Given the description of an element on the screen output the (x, y) to click on. 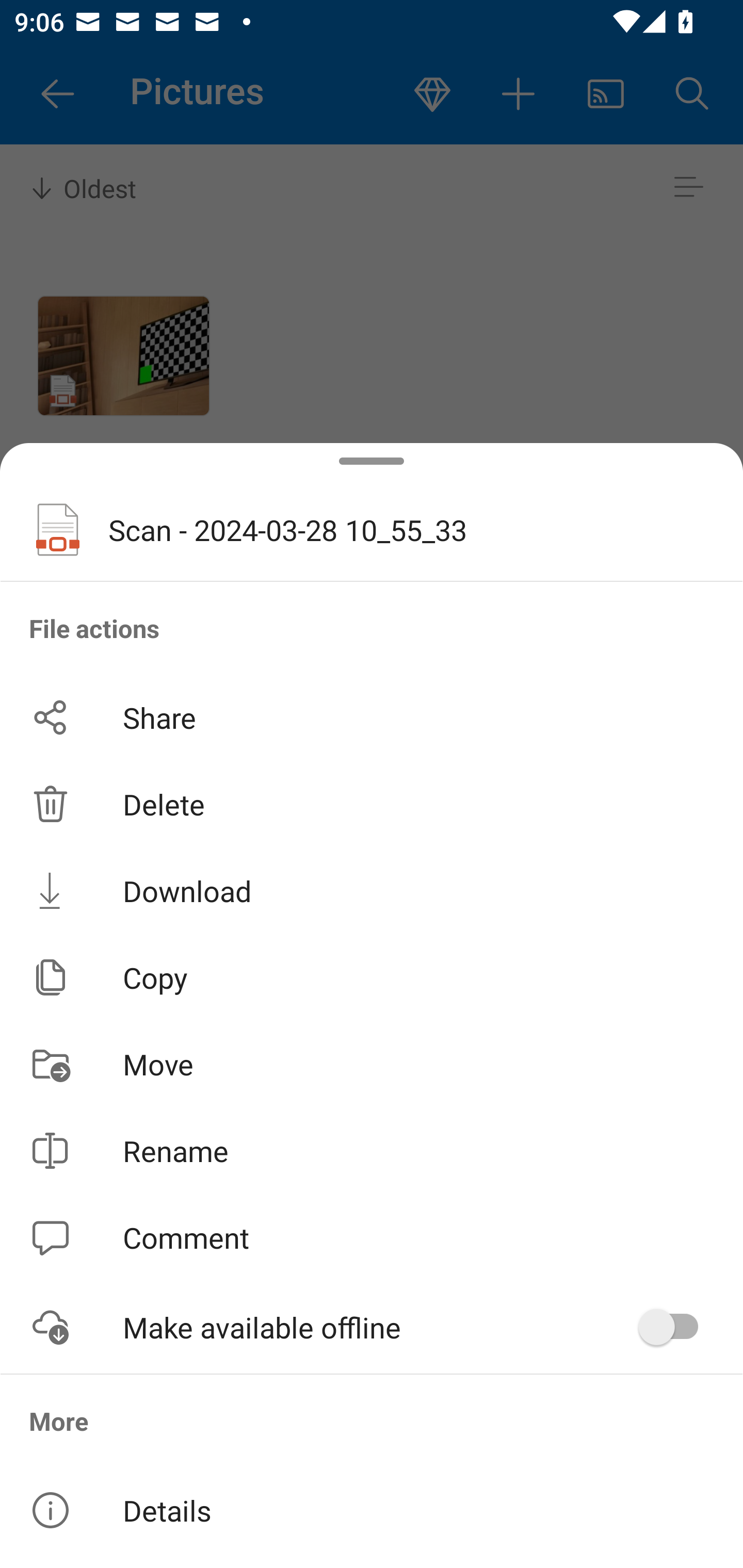
Share button Share (371, 717)
Delete button Delete (371, 803)
Download button Download (371, 890)
Copy button Copy (371, 977)
Move button Move (371, 1063)
Rename button Rename (371, 1150)
Comment button Comment (371, 1237)
Make offline operation (674, 1327)
Details button Details (371, 1510)
